Given the description of an element on the screen output the (x, y) to click on. 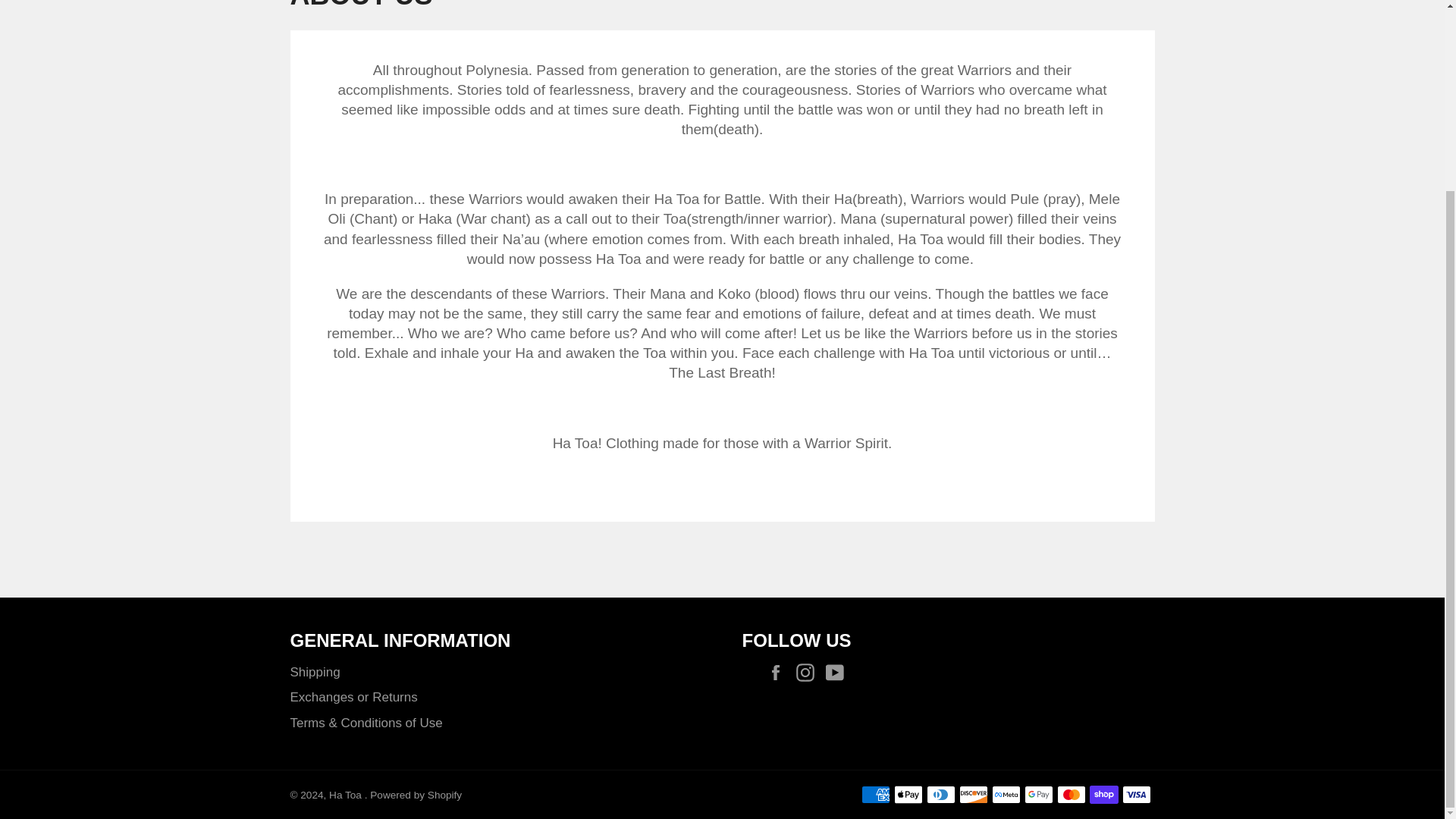
Instagram (809, 672)
Facebook (779, 672)
Ha Toa (347, 794)
Ha Toa  on YouTube (837, 672)
Ha Toa  on Instagram (809, 672)
Shipping (314, 672)
YouTube (837, 672)
Powered by Shopify (415, 794)
Exchanges or Returns (352, 697)
Ha Toa  on Facebook (779, 672)
